Given the description of an element on the screen output the (x, y) to click on. 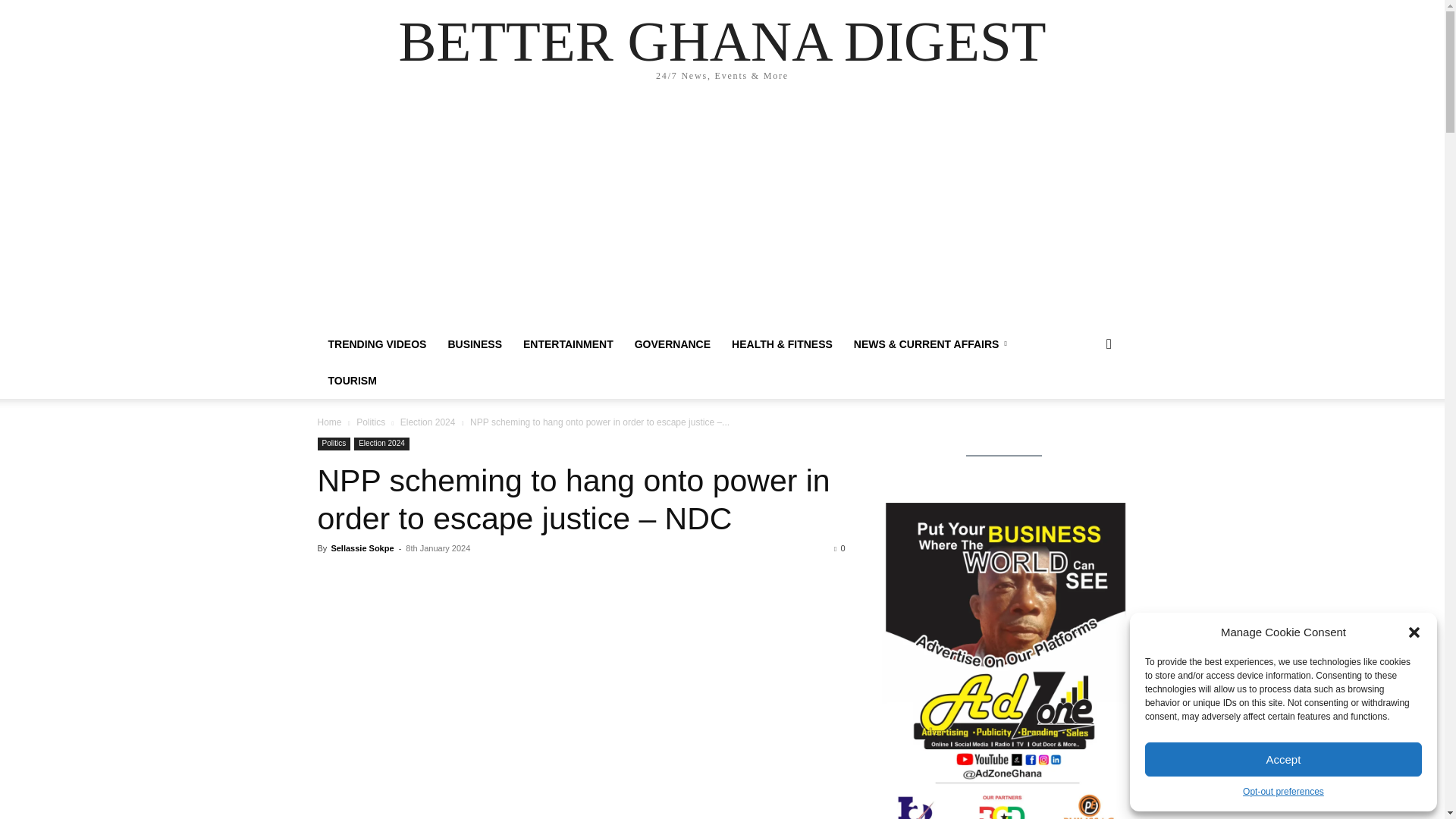
Accept (1283, 759)
Opt-out preferences (1283, 791)
